Given the description of an element on the screen output the (x, y) to click on. 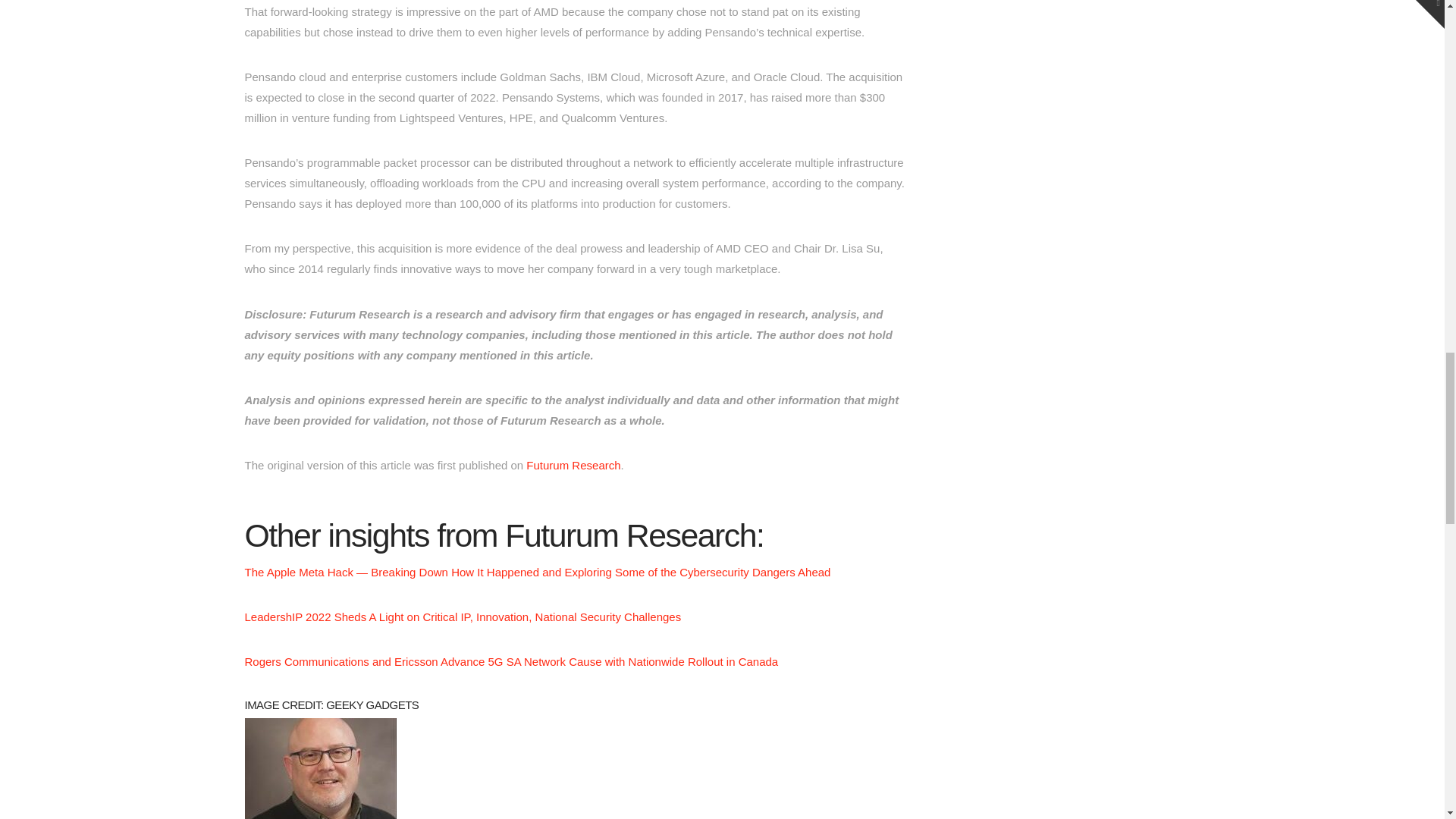
Futurum Research (572, 464)
